Given the description of an element on the screen output the (x, y) to click on. 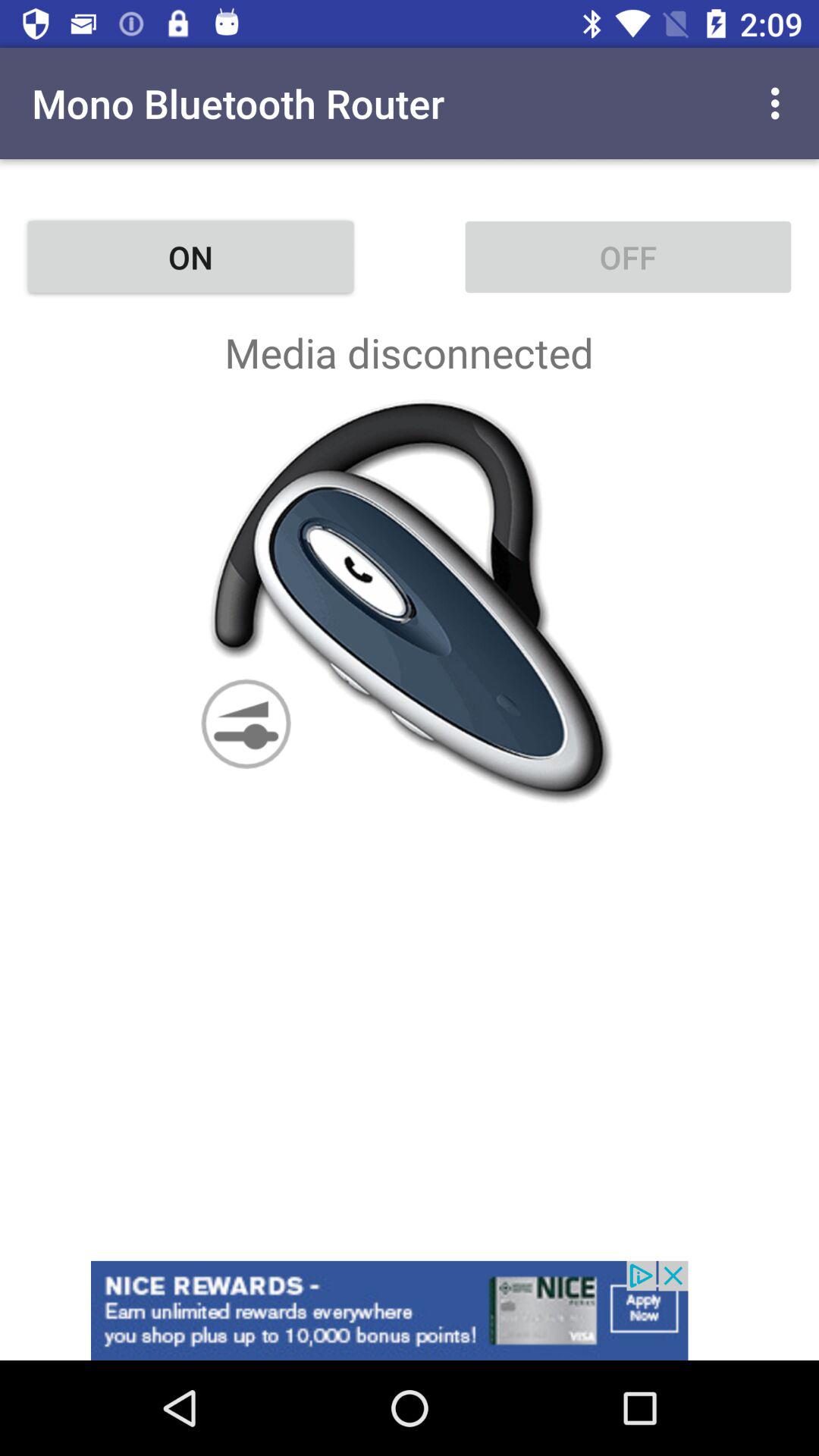
tap to view advertisement (409, 1310)
